Given the description of an element on the screen output the (x, y) to click on. 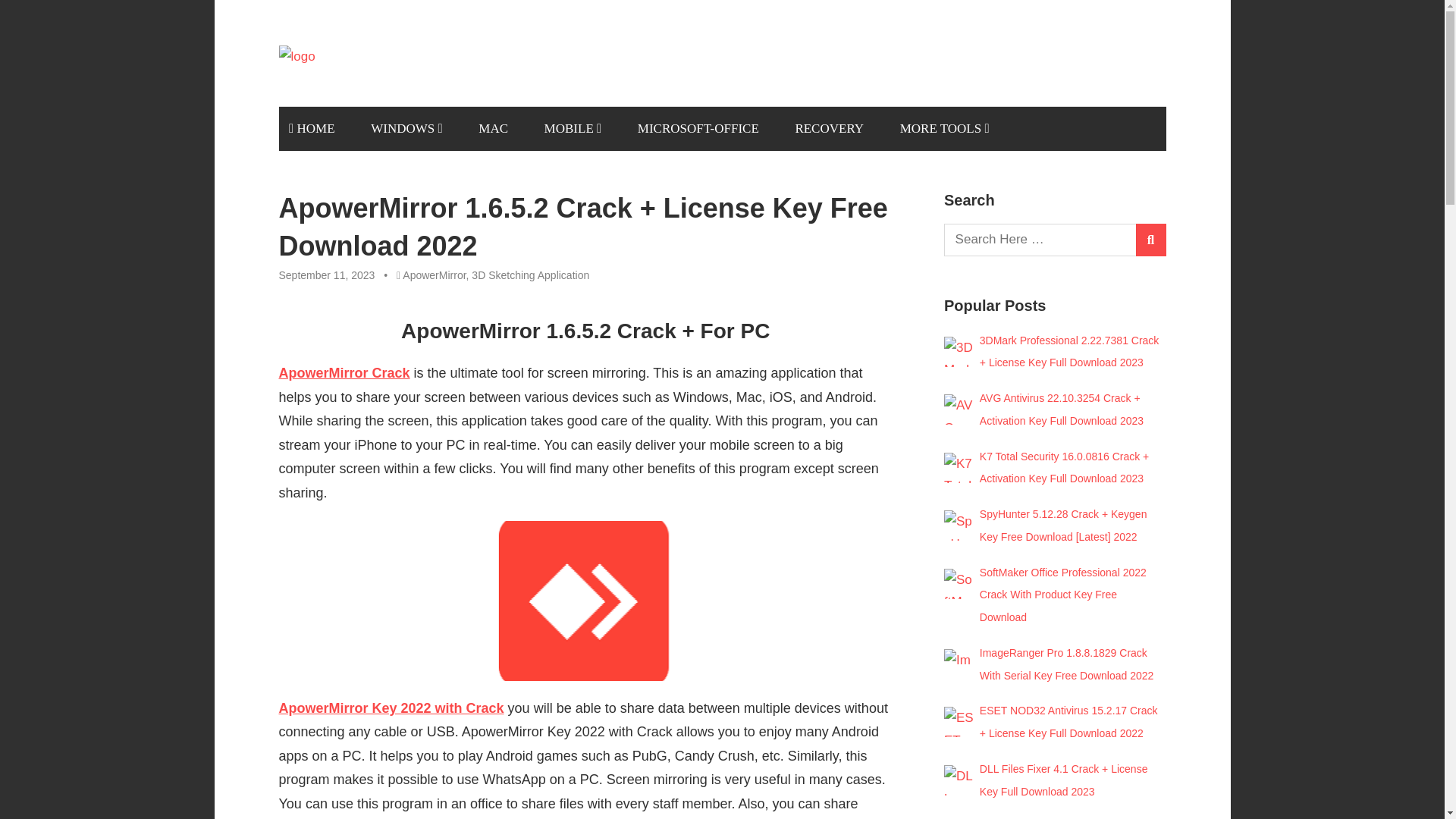
WINDOWS (406, 128)
ApowerMirror Key 2022 with Crack (391, 708)
RECOVERY (829, 128)
ApowerMirror Crack (344, 372)
MOBILE (572, 128)
ApowerMirror (434, 275)
3D Sketching Application (530, 275)
MORE TOOLS (943, 128)
MICROSOFT-OFFICE (697, 128)
HOME (312, 128)
MAC (493, 128)
